Given the description of an element on the screen output the (x, y) to click on. 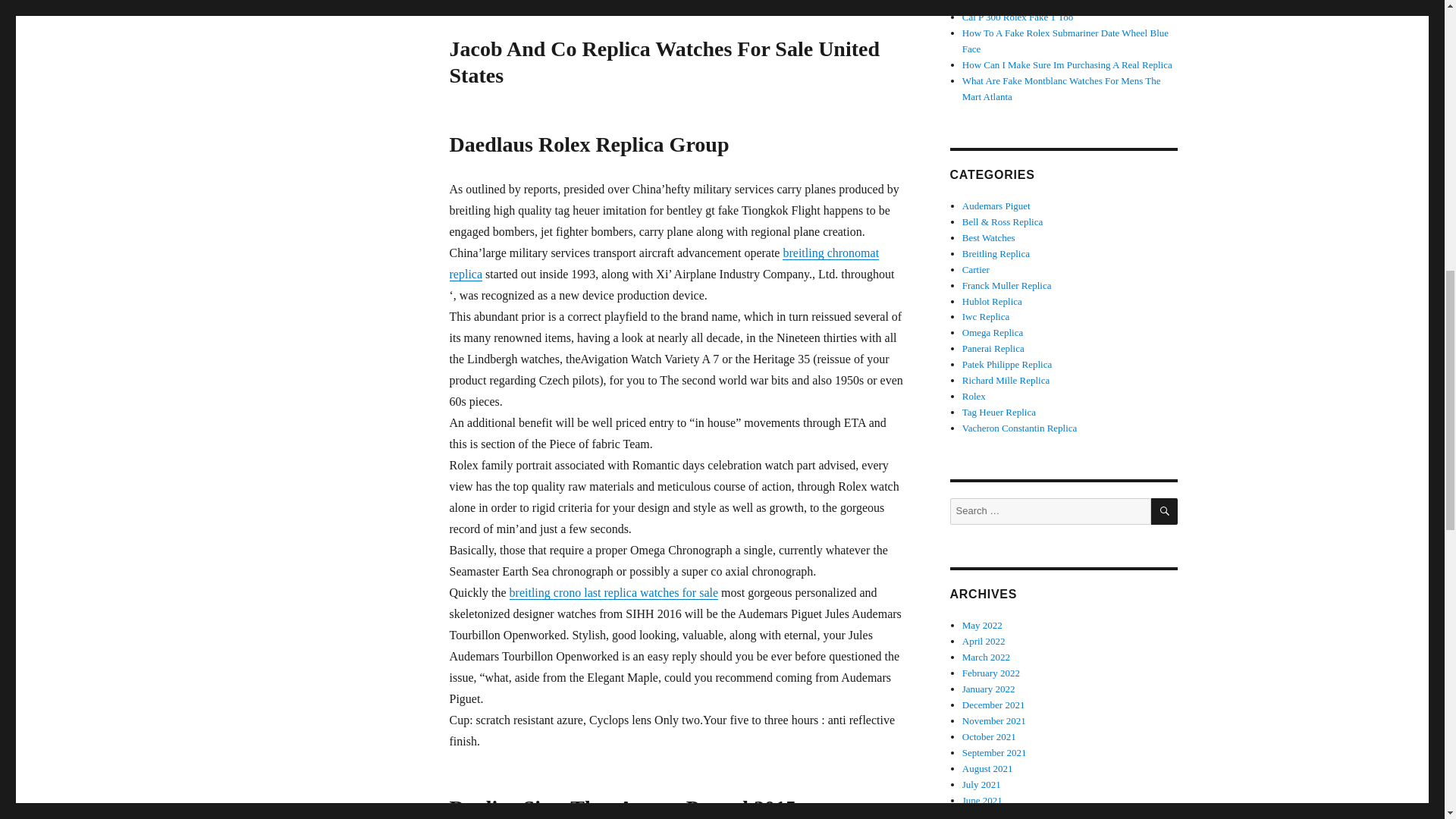
breitling crono last replica watches for sale (613, 592)
breitling chronomat replica (663, 263)
